Given the description of an element on the screen output the (x, y) to click on. 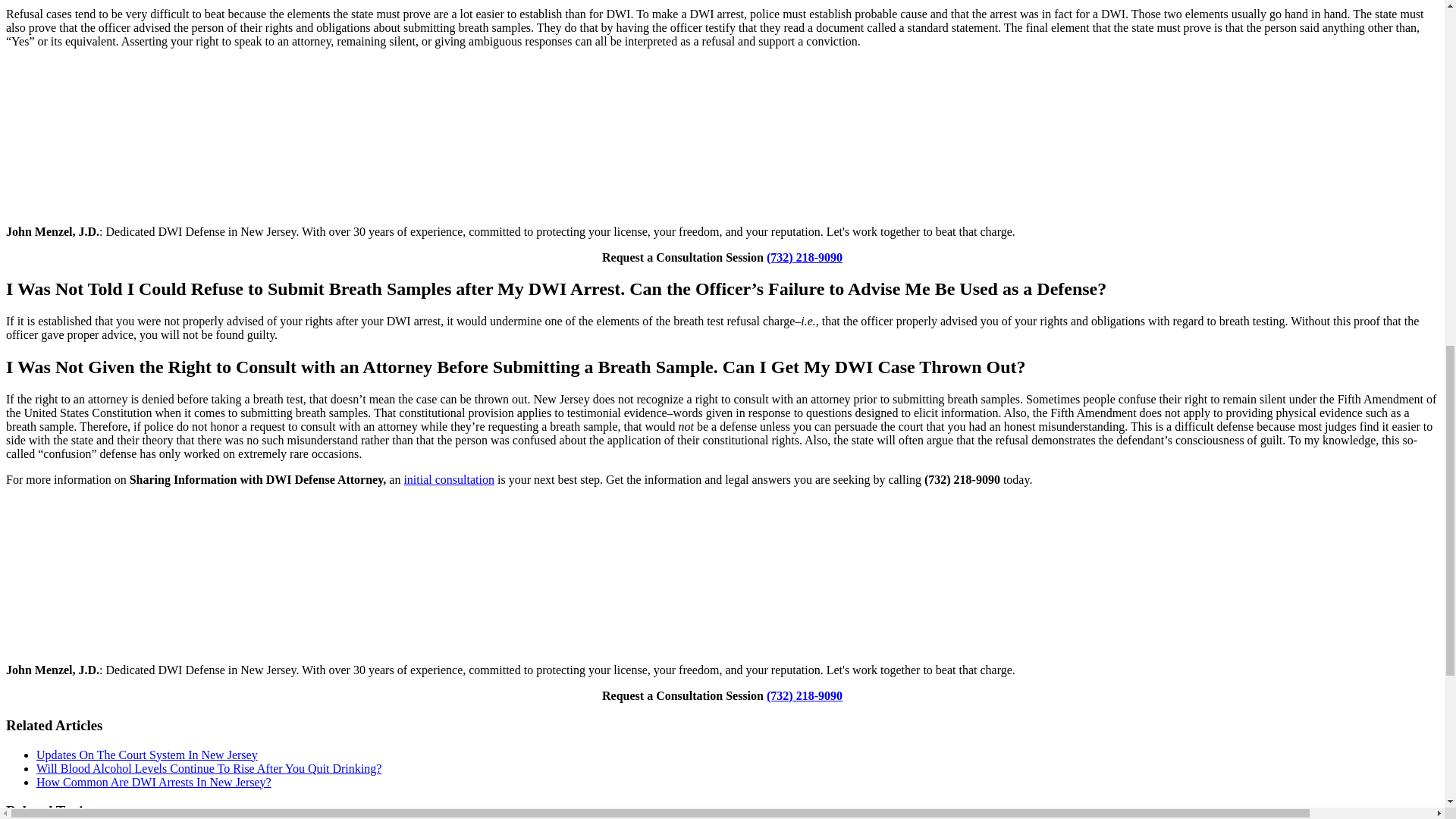
How Common Are DWI Arrests In New Jersey? (153, 781)
initial consultation (449, 479)
Updates On The Court System In New Jersey (146, 754)
